Given the description of an element on the screen output the (x, y) to click on. 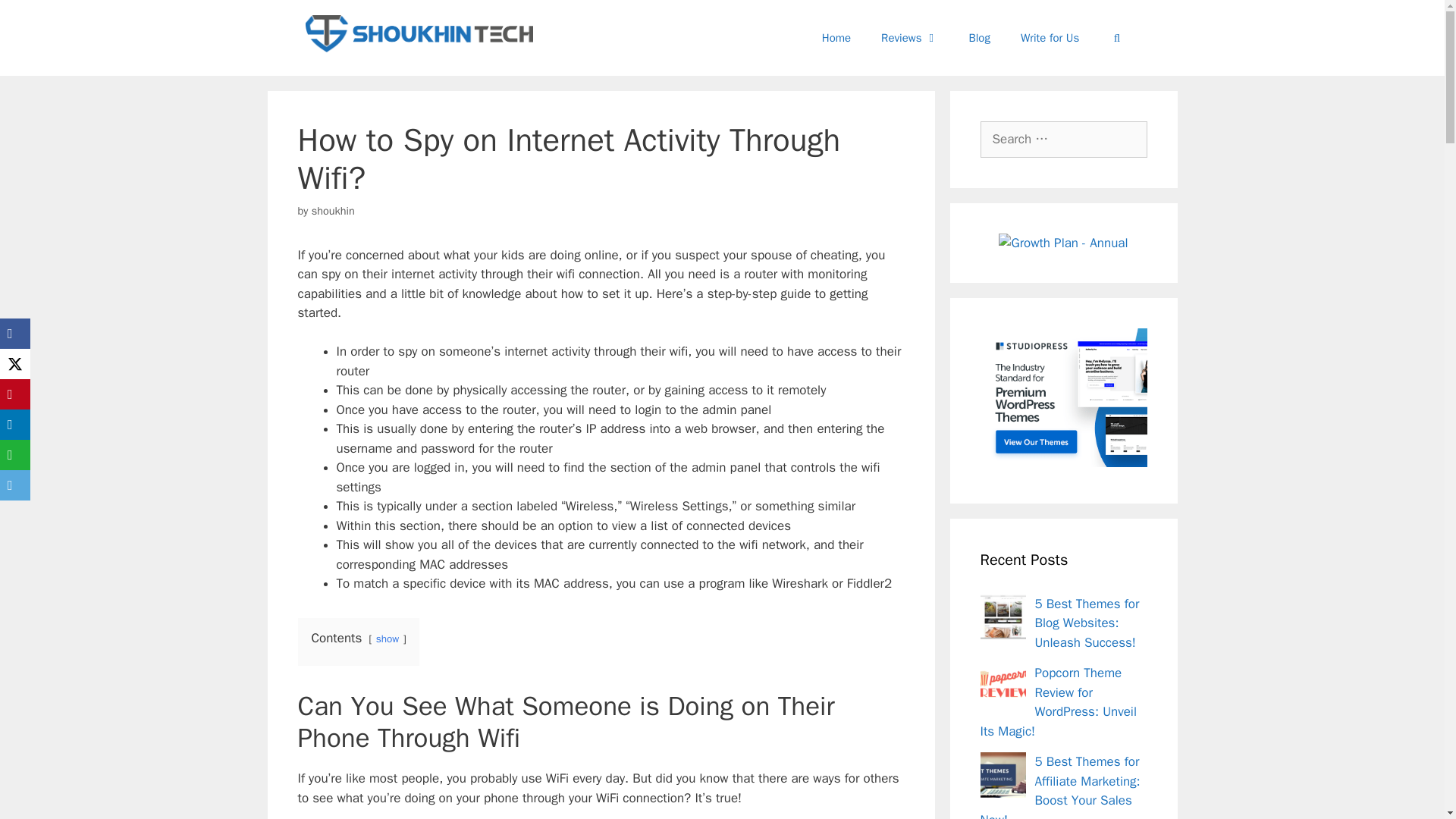
shoukhin (333, 210)
5 Best Themes for Affiliate Marketing: Boost Your Sales Now! (1059, 786)
Write for Us (1050, 37)
View all posts by shoukhin (333, 210)
Reviews (909, 37)
show (386, 638)
Home (836, 37)
Popcorn Theme Review for WordPress: Unveil Its Magic! (1057, 702)
5 Best Themes for Blog Websites: Unleash Success! (1085, 623)
Search (35, 18)
Search for: (1063, 139)
Blog (978, 37)
